Given the description of an element on the screen output the (x, y) to click on. 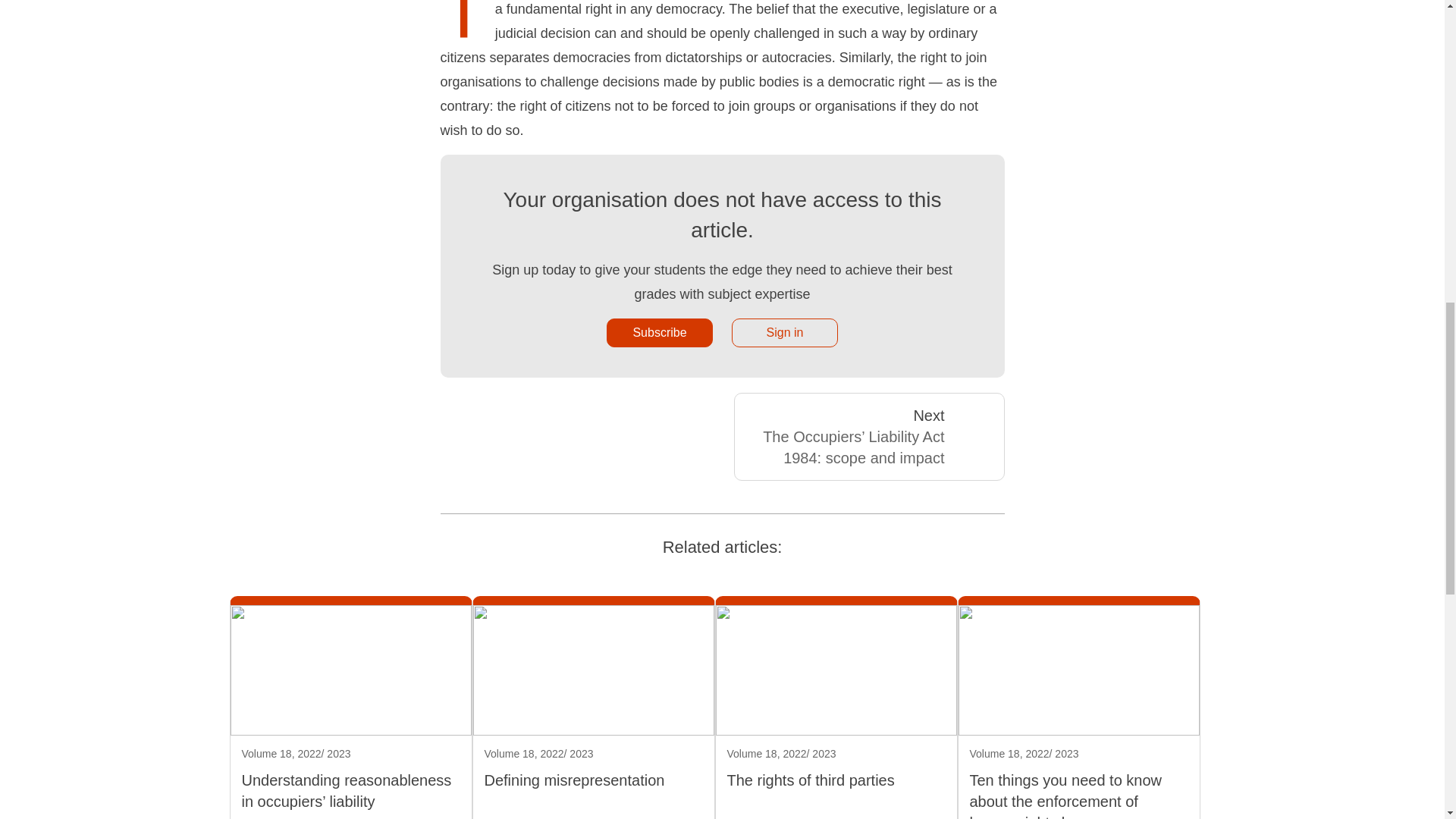
Subscribe (660, 332)
Sign in (785, 332)
